Given the description of an element on the screen output the (x, y) to click on. 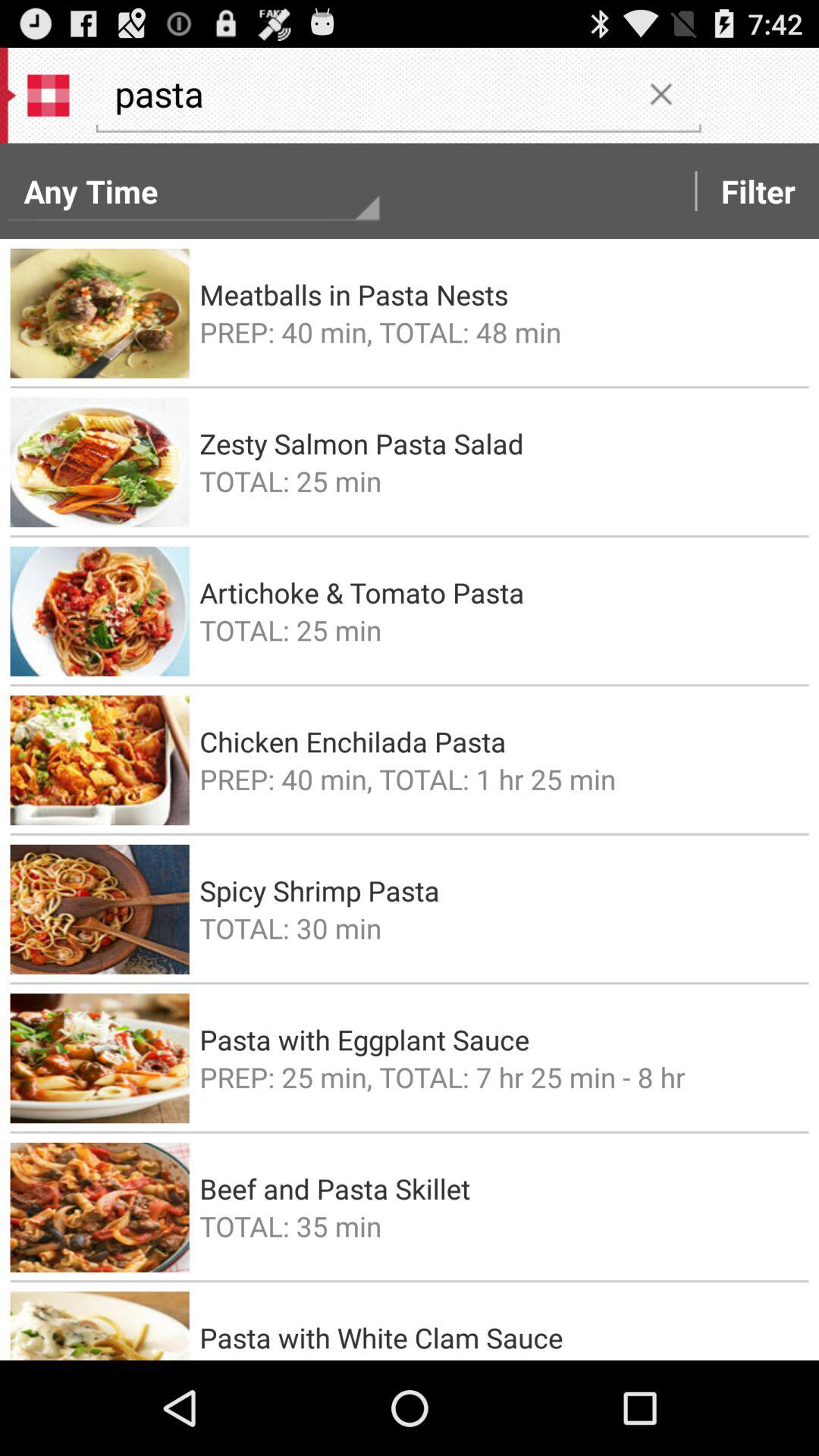
select the button next to the filter (660, 93)
